Given the description of an element on the screen output the (x, y) to click on. 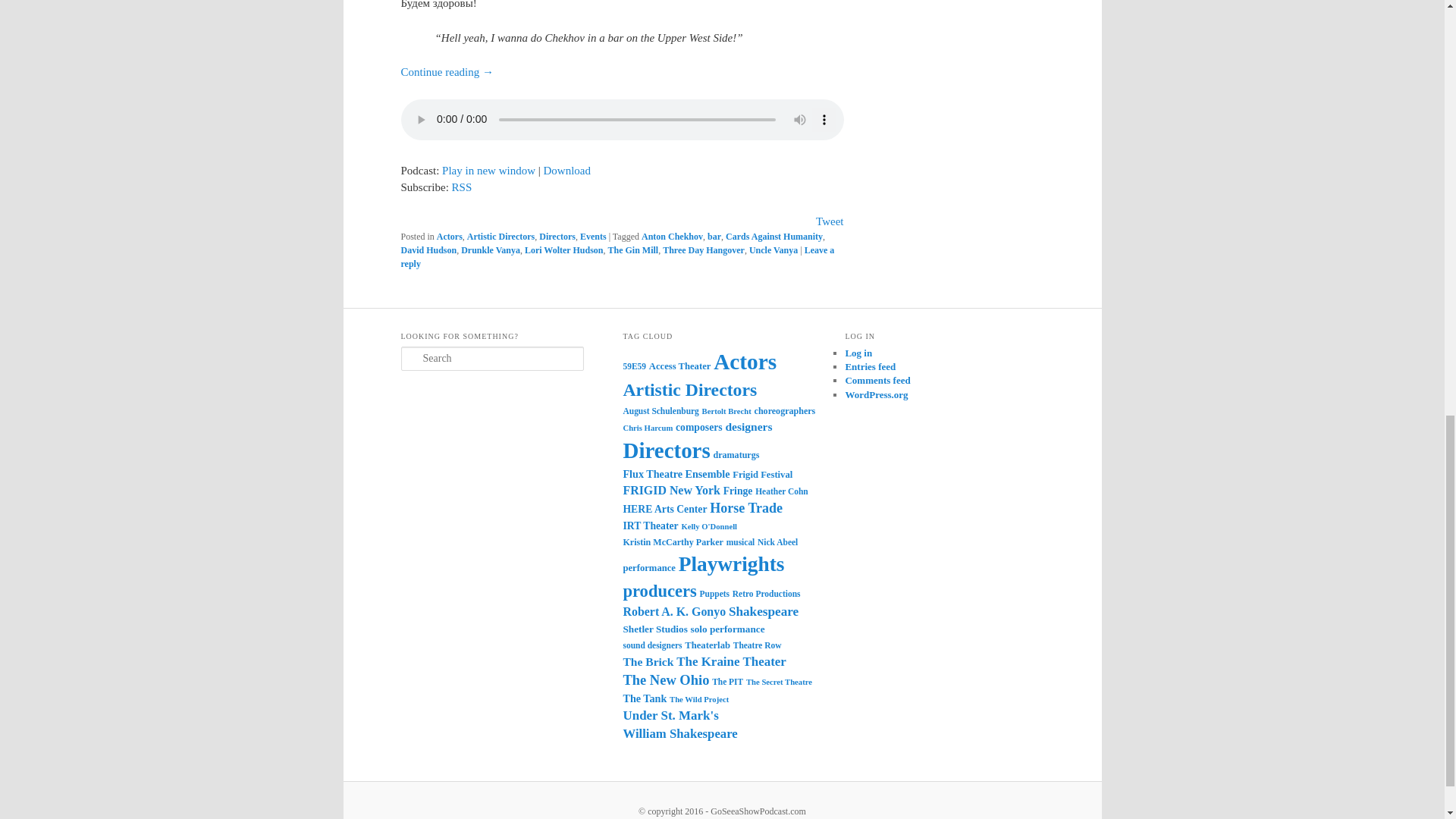
Anton Chekhov (672, 235)
Download (567, 170)
Subscribe via RSS (461, 186)
Artistic Directors (500, 235)
Leave a reply (617, 256)
Lori Wolter Hudson (564, 249)
David Hudson (428, 249)
Directors (556, 235)
Three Day Hangover (703, 249)
Play in new window (488, 170)
The Gin Mill (632, 249)
RSS (461, 186)
Cards Against Humanity (773, 235)
Actors (449, 235)
Drunkle Vanya (490, 249)
